Given the description of an element on the screen output the (x, y) to click on. 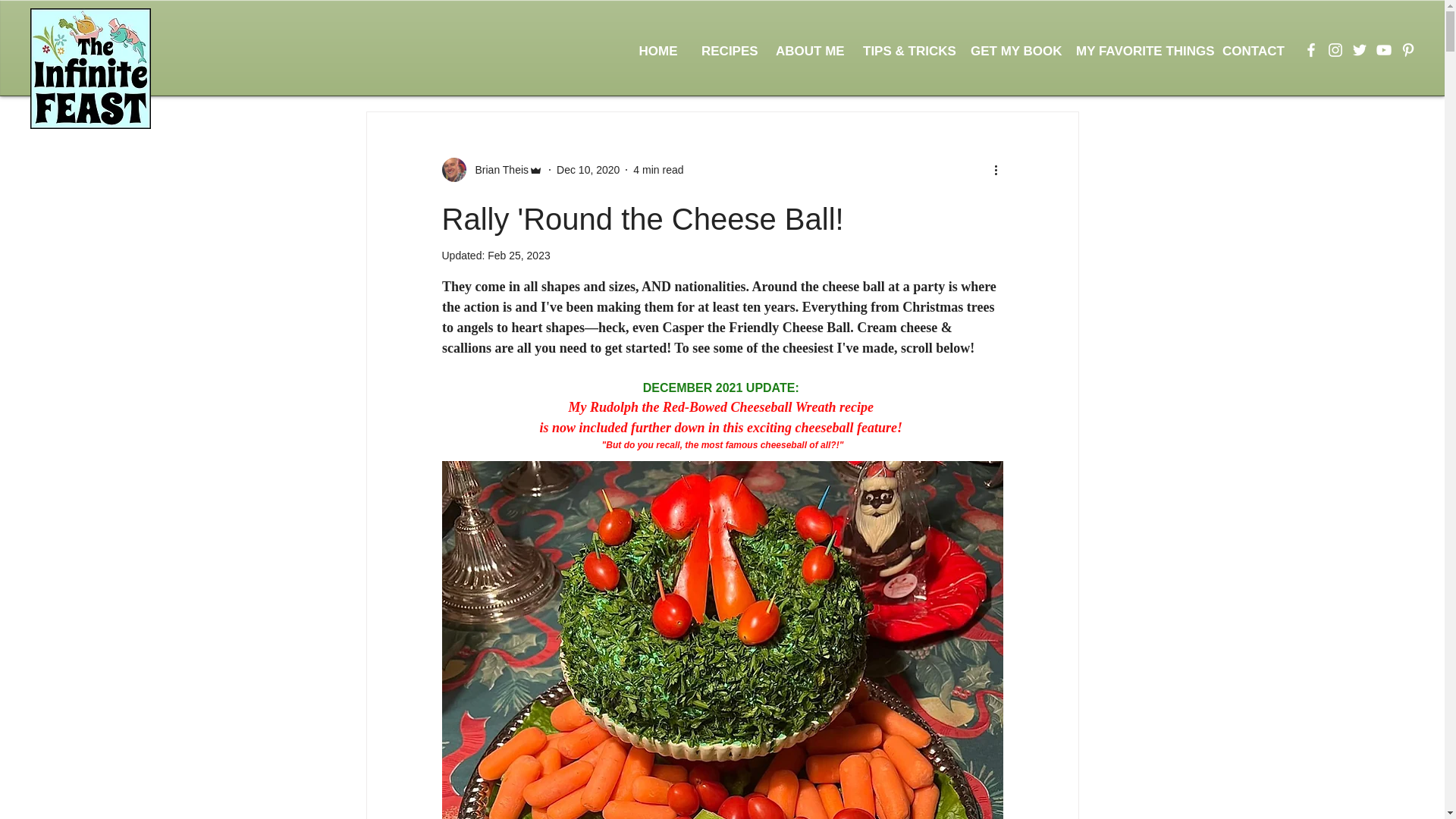
Brian Theis (492, 169)
Dec 10, 2020 (588, 169)
GET MY BOOK (1011, 51)
MY FAVORITE THINGS (1137, 51)
4 min read (657, 169)
Brian Theis (496, 170)
ABOUT ME (807, 51)
HOME (658, 51)
Feb 25, 2023 (518, 255)
CONTACT (1250, 51)
